Given the description of an element on the screen output the (x, y) to click on. 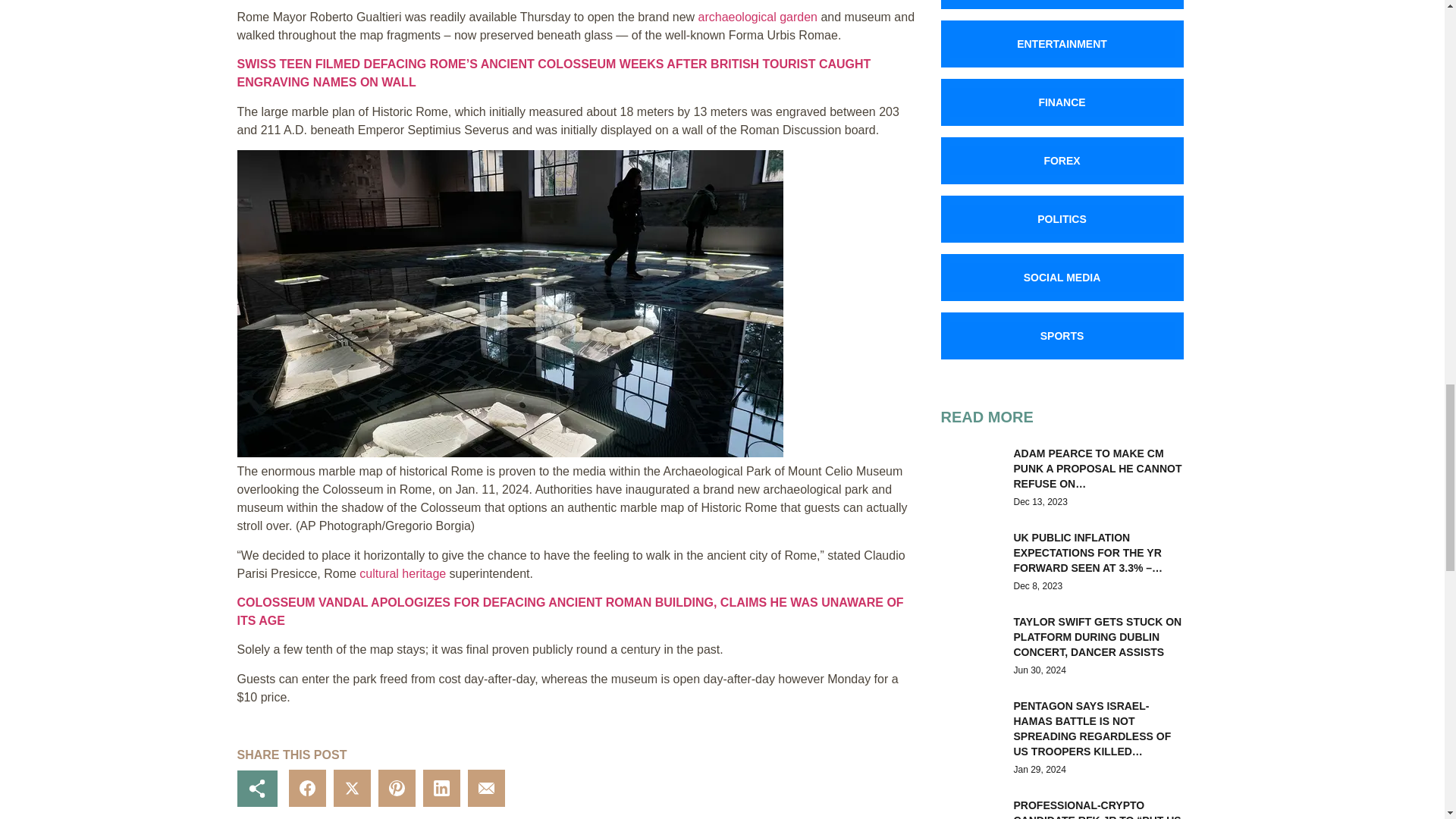
archaeological garden (757, 16)
cultural heritage (402, 573)
